Given the description of an element on the screen output the (x, y) to click on. 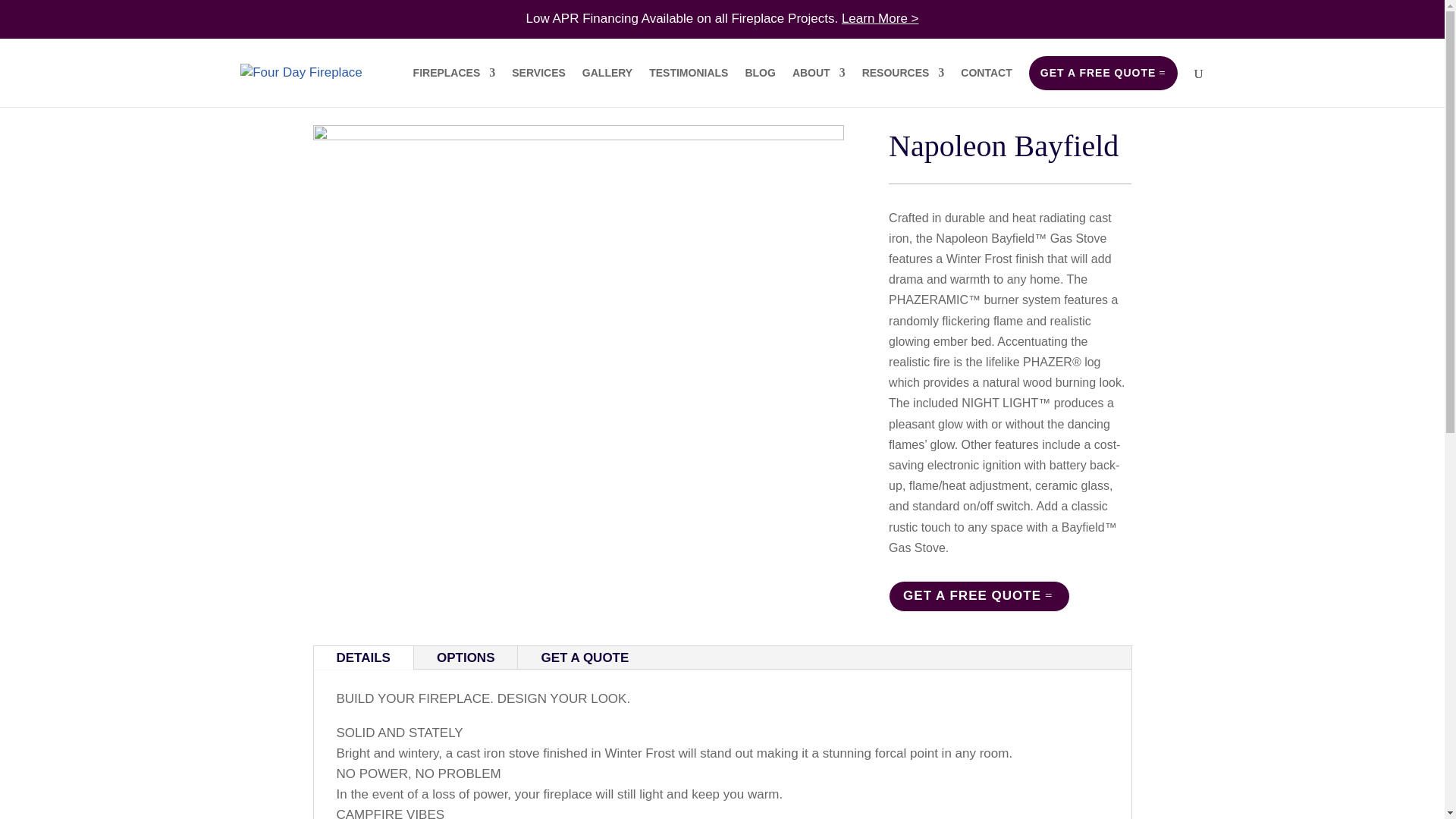
GET A QUOTE (584, 658)
CONTACT (985, 87)
GET A FREE QUOTE (1103, 73)
GET A FREE QUOTE (979, 595)
DETAILS (363, 658)
Napoleon Cast Iron Series - Bayfield (578, 454)
Napoleon Bayfield (1003, 145)
ABOUT (818, 87)
TESTIMONIALS (688, 87)
RESOURCES (902, 87)
OPTIONS (465, 658)
FIREPLACES (454, 87)
SERVICES (539, 87)
GALLERY (606, 87)
